Given the description of an element on the screen output the (x, y) to click on. 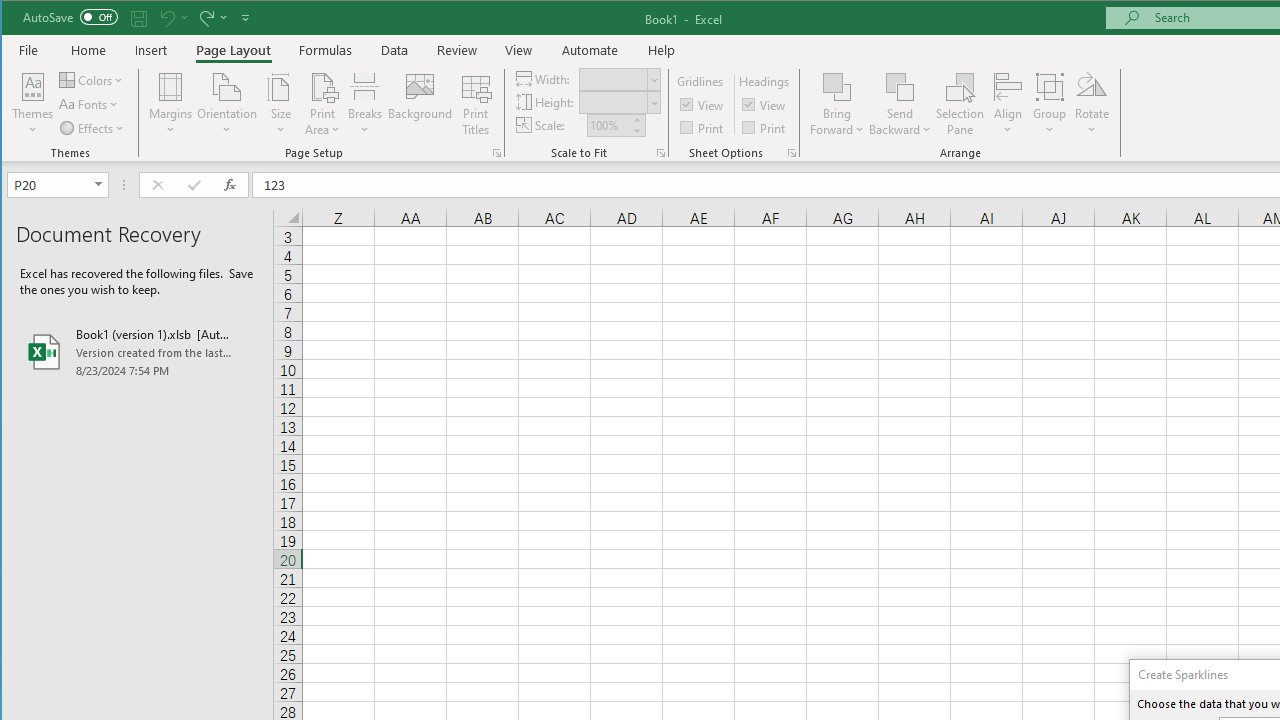
Height (619, 101)
Fonts (90, 103)
Bring Forward (836, 86)
Name Box (49, 184)
View (765, 103)
More Options (900, 123)
Group (1050, 104)
Align (1007, 104)
Customize Quick Access Toolbar (245, 17)
Selection Pane... (960, 104)
Save (139, 17)
Help (661, 50)
File Tab (29, 49)
AutoSave (70, 16)
